Given the description of an element on the screen output the (x, y) to click on. 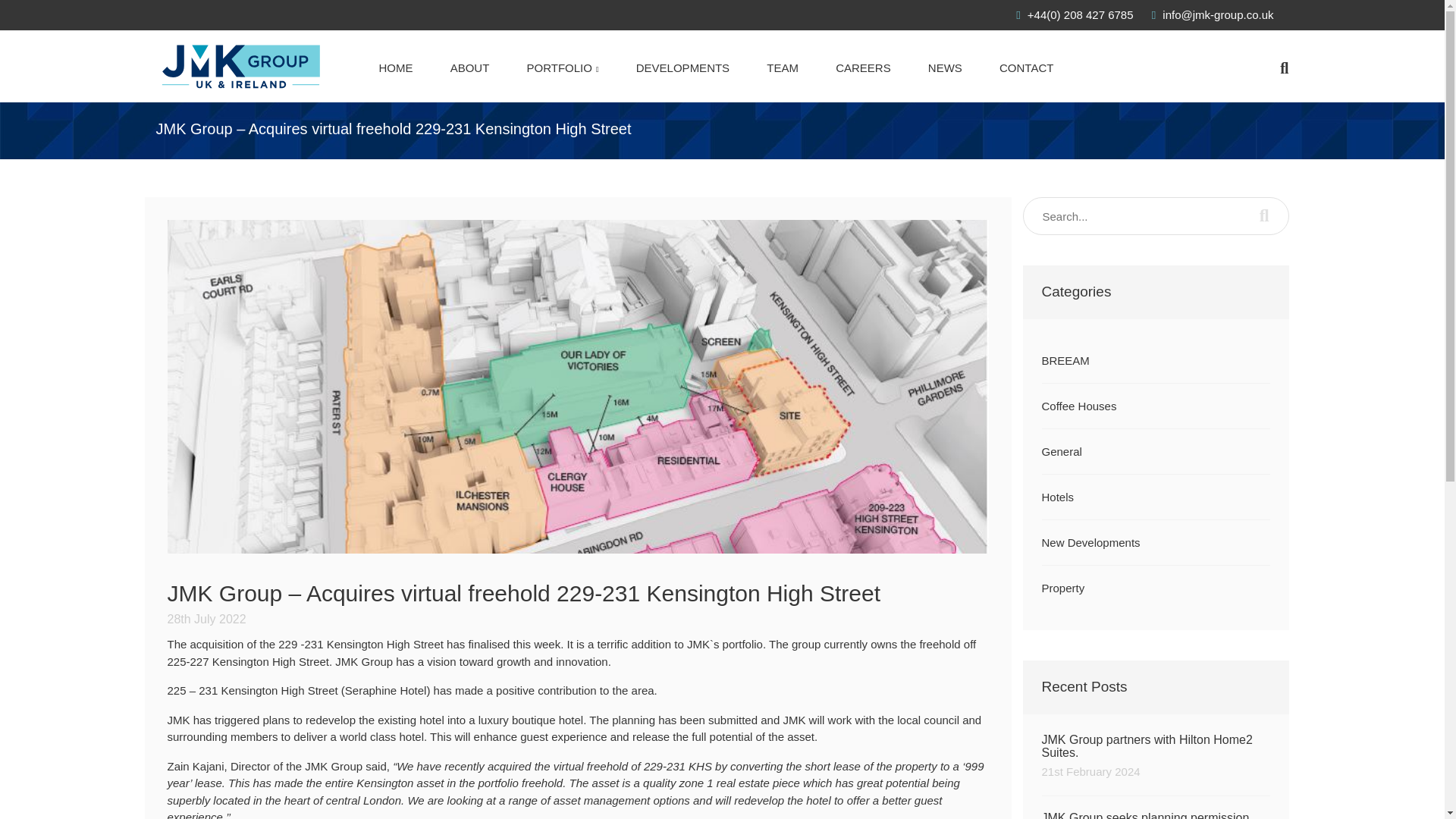
BREEAM (1065, 359)
ABOUT (469, 67)
CONTACT (1025, 67)
DEVELOPMENTS (682, 67)
TEAM (782, 67)
CAREERS (863, 67)
HOME (395, 67)
PORTFOLIO (562, 67)
JMK Group (240, 69)
Coffee Houses (1079, 405)
Property (1063, 587)
Hotels (1058, 496)
New Developments (1155, 815)
